Given the description of an element on the screen output the (x, y) to click on. 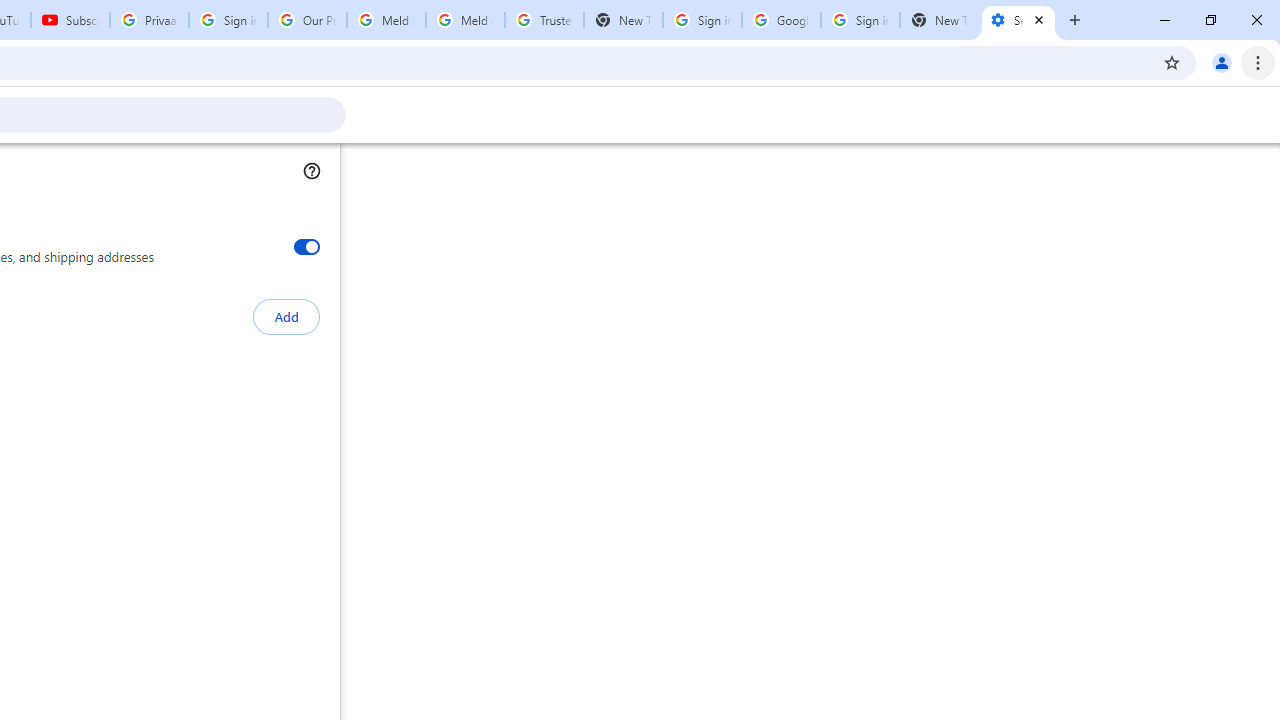
Sign in - Google Accounts (702, 20)
Sign in - Google Accounts (228, 20)
Settings - Addresses and more (1018, 20)
Subscriptions - YouTube (70, 20)
Trusted Information and Content - Google Safety Center (544, 20)
